Given the description of an element on the screen output the (x, y) to click on. 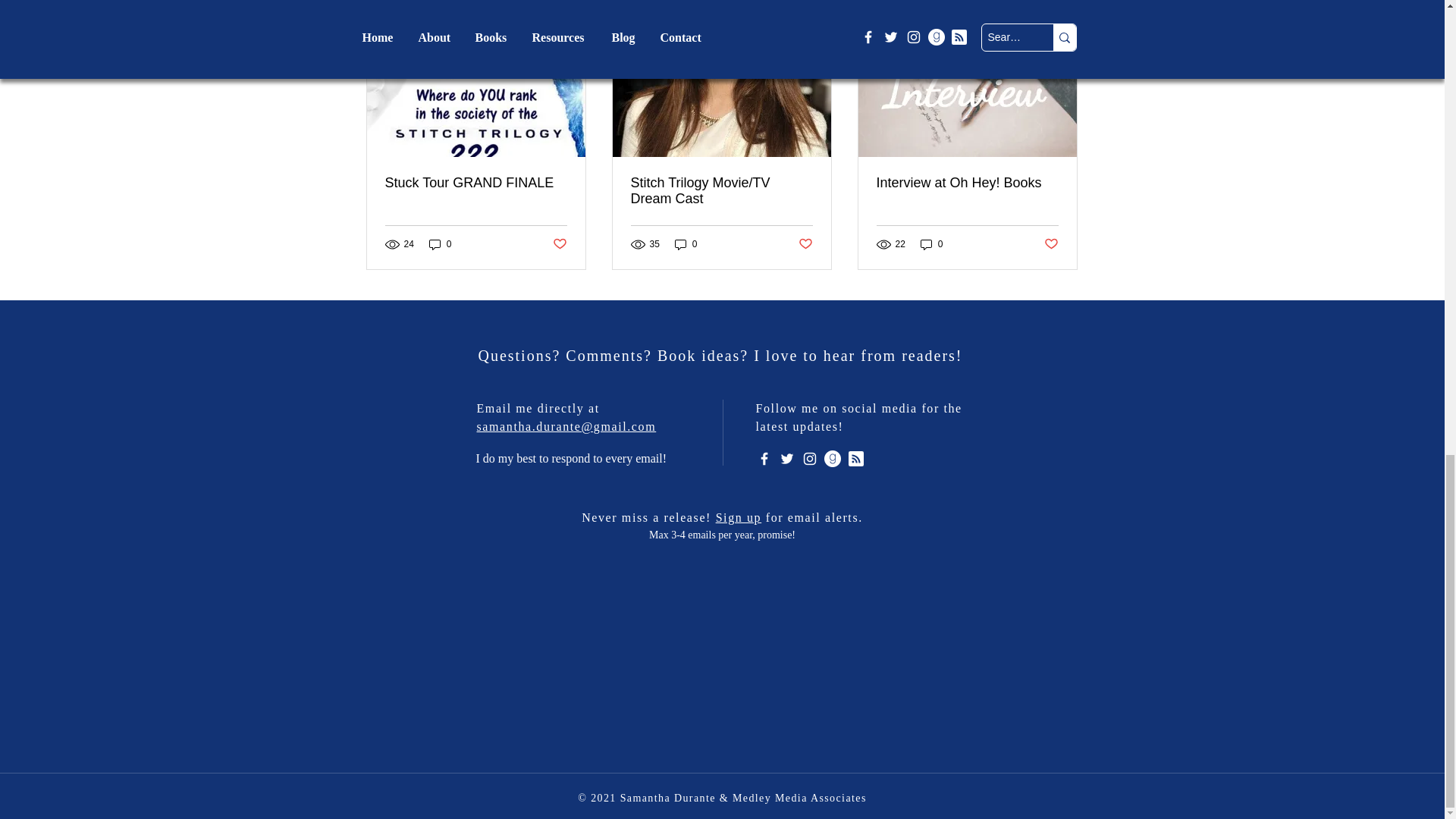
See All (1061, 9)
Stuck Tour GRAND FINALE (476, 182)
Embedded Content (721, 662)
